Given the description of an element on the screen output the (x, y) to click on. 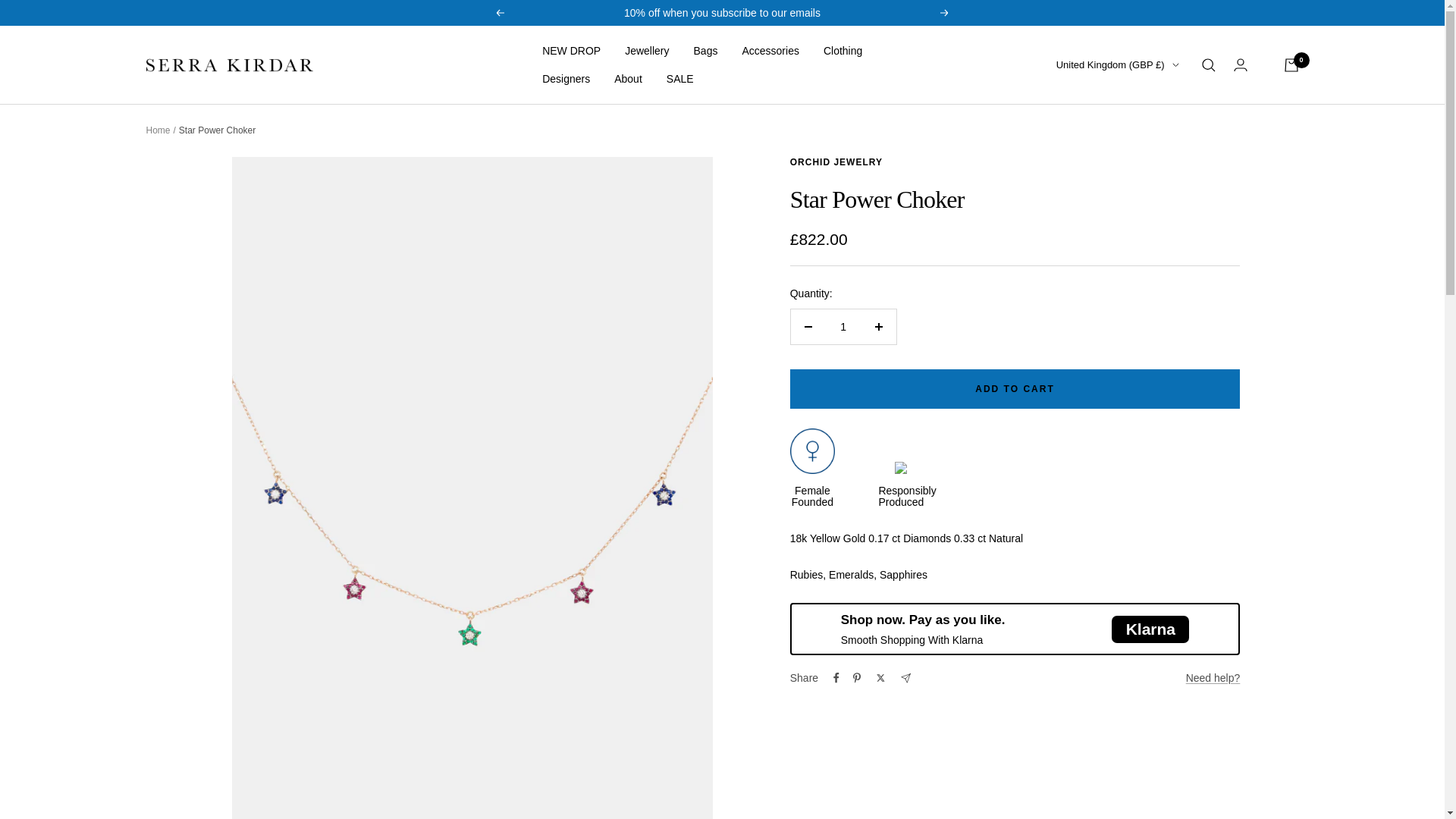
DZ (1037, 186)
AG (1037, 281)
AC (1037, 376)
1 (843, 326)
AW (1037, 352)
AX (1037, 139)
Accessories (769, 50)
AZ (1037, 447)
Previous (499, 12)
Bags (705, 50)
AD (1037, 210)
Jewellery (646, 50)
AF (1037, 116)
NEW DROP (570, 50)
AO (1037, 234)
